Given the description of an element on the screen output the (x, y) to click on. 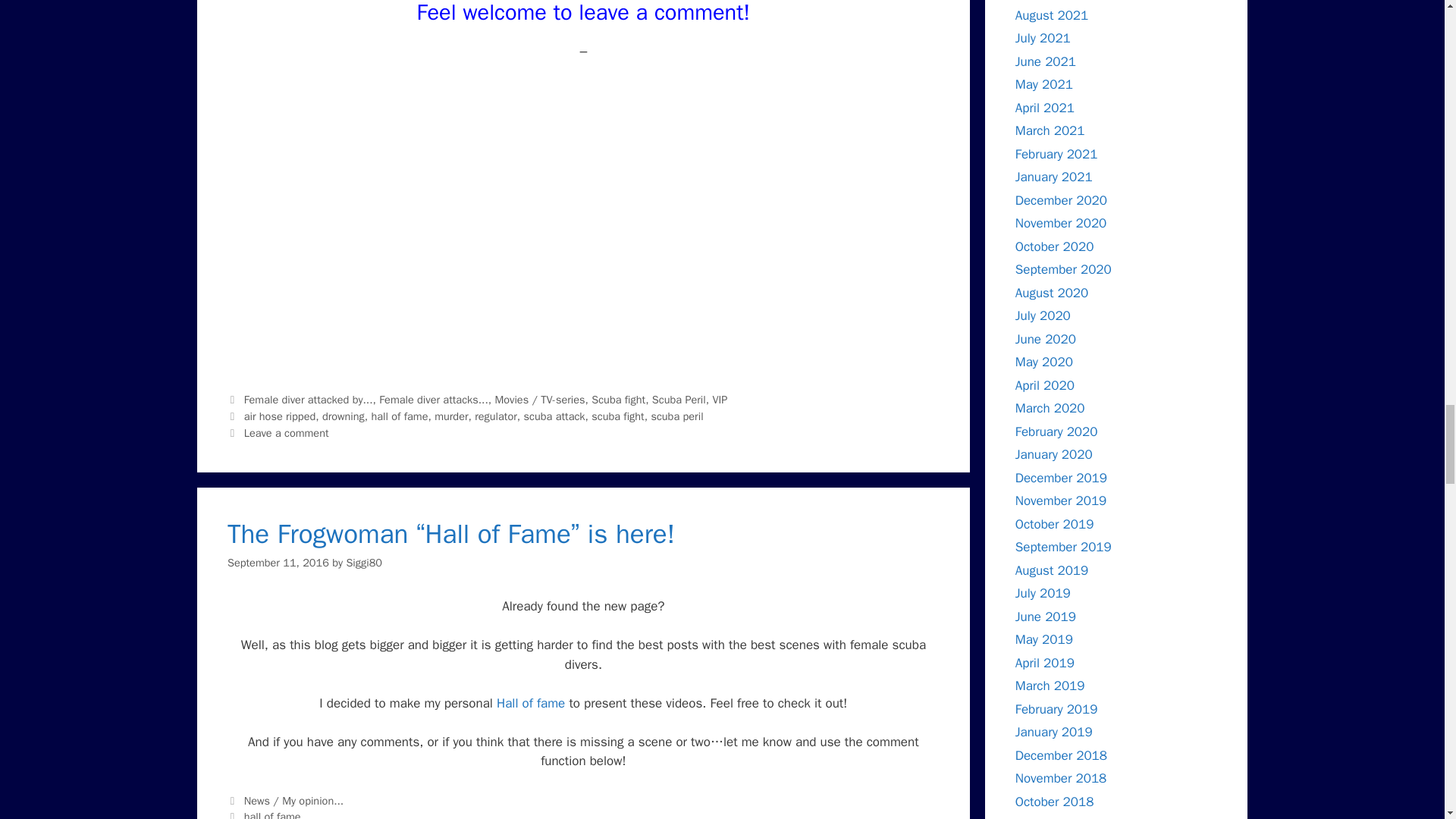
VIP (718, 399)
View all posts by Siggi80 (363, 562)
Scuba Peril (679, 399)
Scuba fight (618, 399)
drowning (343, 416)
Female diver attacks... (432, 399)
Female diver attacked by... (308, 399)
air hose ripped (279, 416)
